Given the description of an element on the screen output the (x, y) to click on. 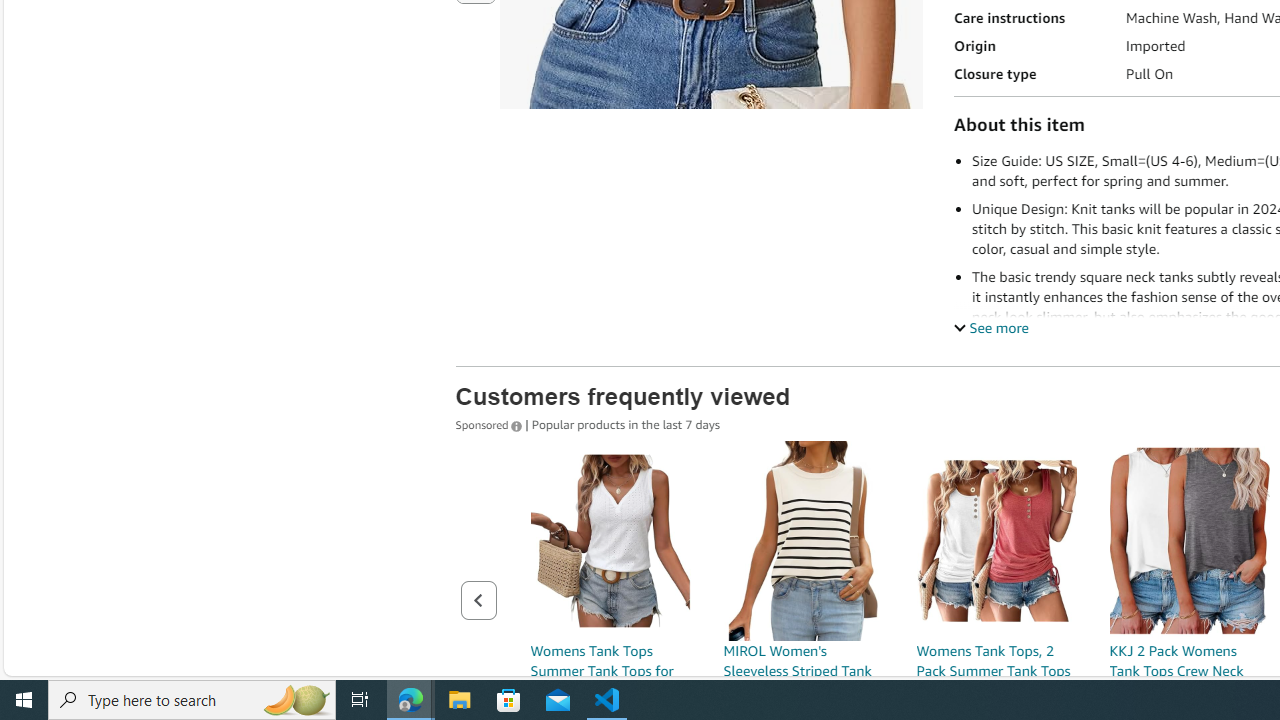
Previous page of related Sponsored Products (477, 600)
Sponsored  (490, 423)
